Given the description of an element on the screen output the (x, y) to click on. 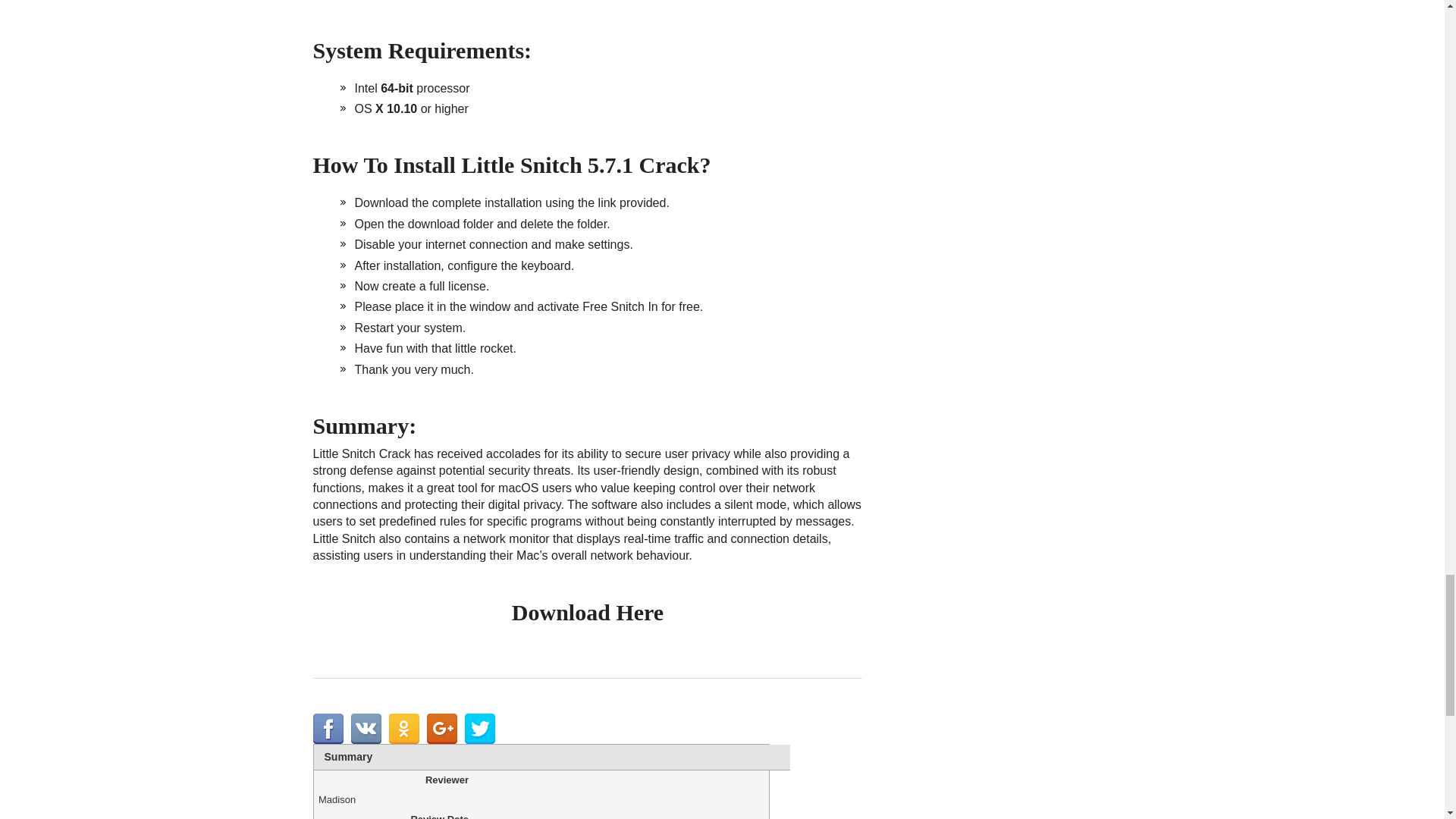
Share in VK (365, 728)
Download Here (587, 611)
Share in Facebook (327, 728)
Share in OK (403, 728)
Share in Twitter (479, 728)
